Given the description of an element on the screen output the (x, y) to click on. 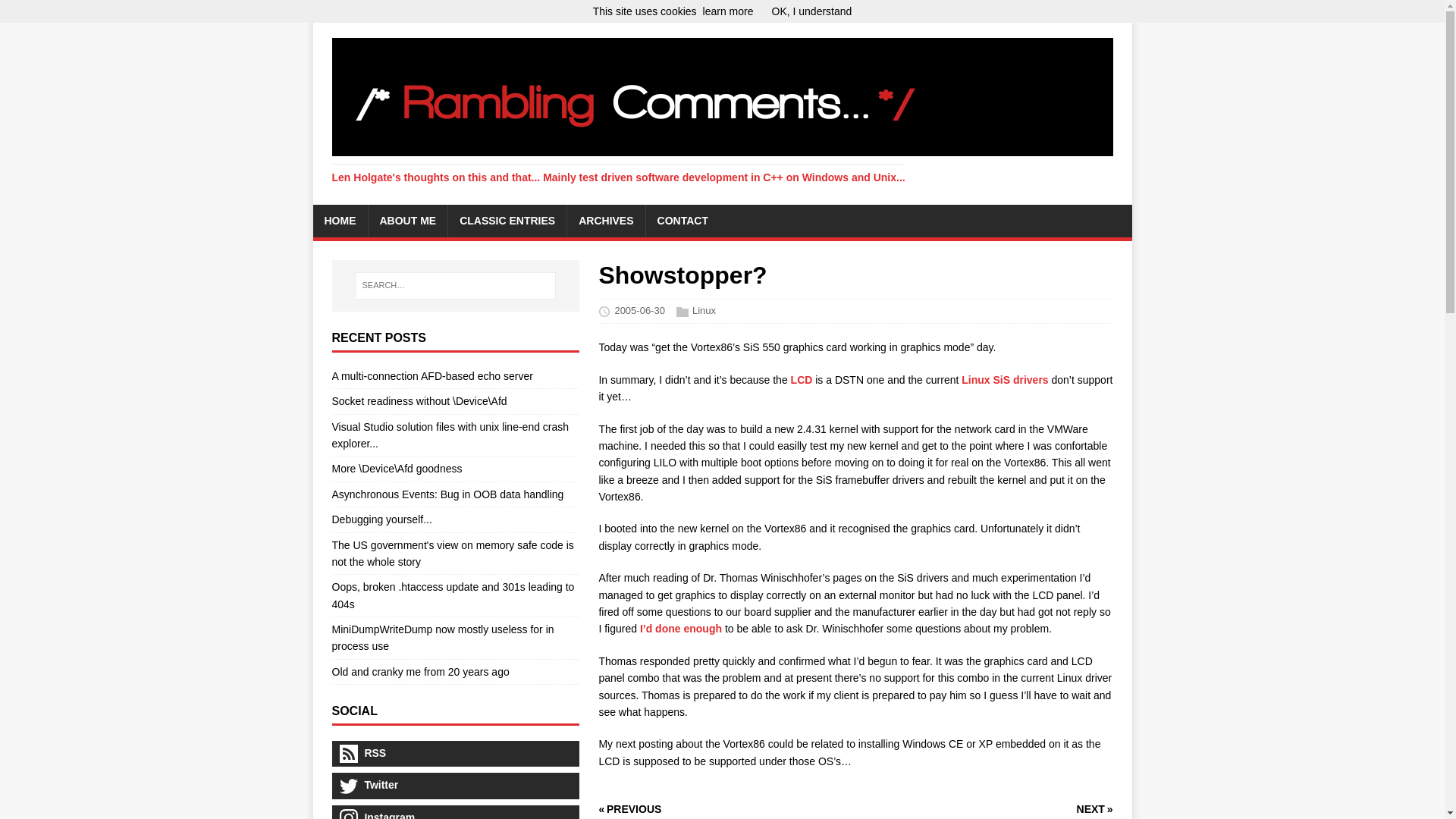
RSS feed (455, 753)
Instagram (455, 812)
Rambling Comments - Len Holgate's blog (722, 111)
ABOUT ME (408, 220)
Old and cranky me from 20 years ago (420, 671)
A multi-connection AFD-based echo server (431, 376)
Asynchronous Events: Bug in OOB data handling (447, 494)
RSS (455, 753)
CLASSIC ENTRIES (507, 220)
CONTACT (682, 220)
Oops, broken .htaccess update and 301s leading to 404s (453, 594)
Debugging yourself... (381, 519)
Twitter (455, 785)
